Given the description of an element on the screen output the (x, y) to click on. 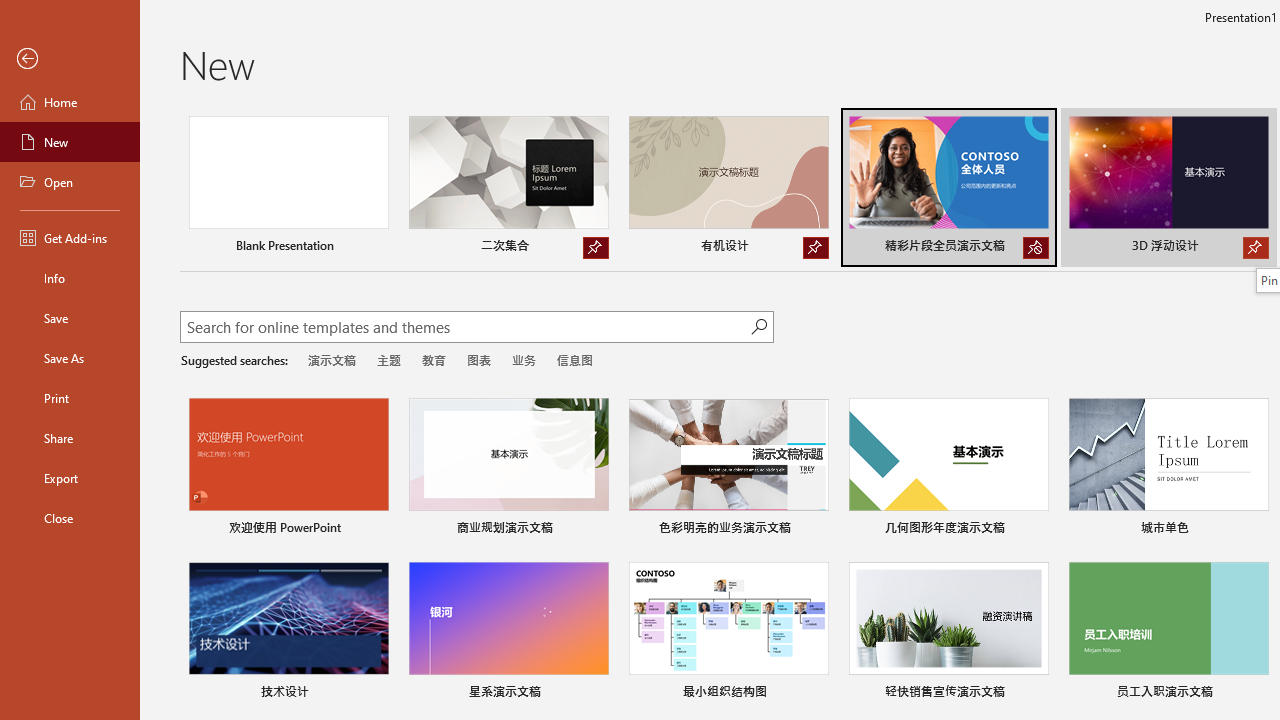
Print (69, 398)
Export (69, 477)
Unpin from list (1035, 247)
